Given the description of an element on the screen output the (x, y) to click on. 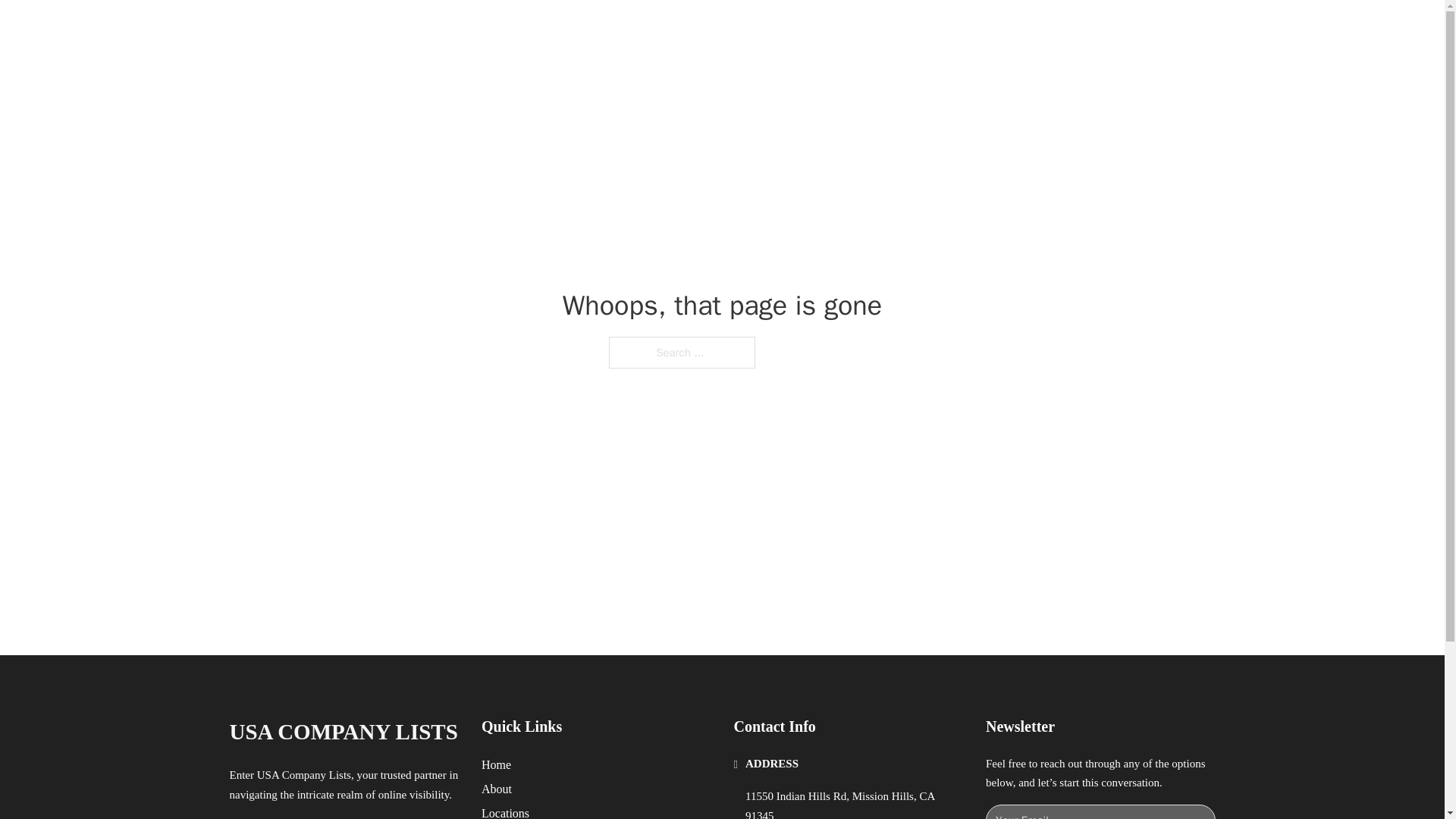
USA COMPANY LISTS (416, 28)
Locations (505, 811)
USA COMPANY LISTS (342, 732)
Home (496, 764)
About (496, 788)
HOME (919, 29)
LOCATIONS (990, 29)
